Given the description of an element on the screen output the (x, y) to click on. 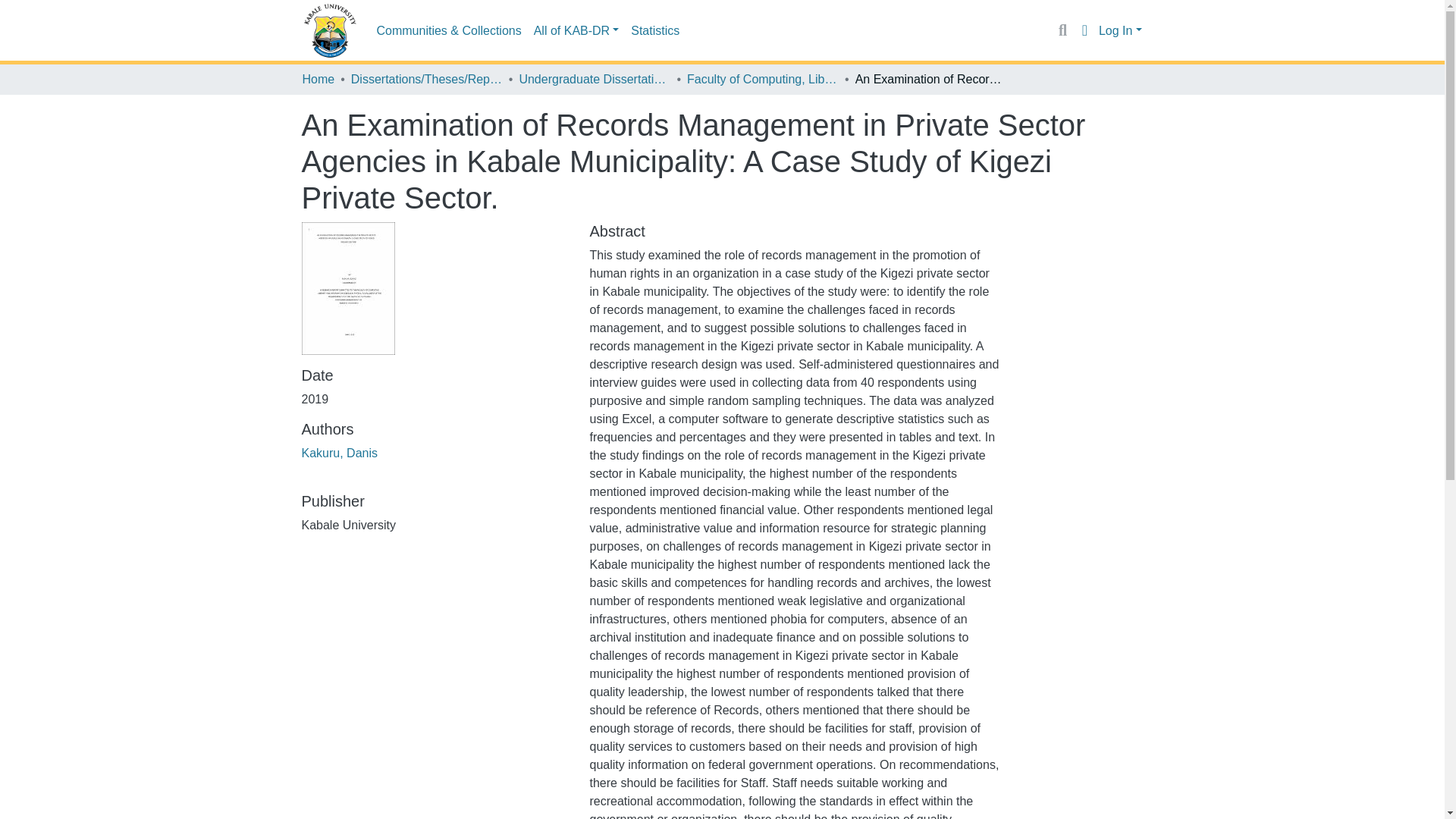
Statistics (654, 30)
Home (317, 79)
Undergraduate Dissertations (593, 79)
Search (1061, 30)
Statistics (654, 30)
Kakuru, Danis (339, 452)
Language switch (1084, 30)
All of KAB-DR (576, 30)
Log In (1119, 30)
